Given the description of an element on the screen output the (x, y) to click on. 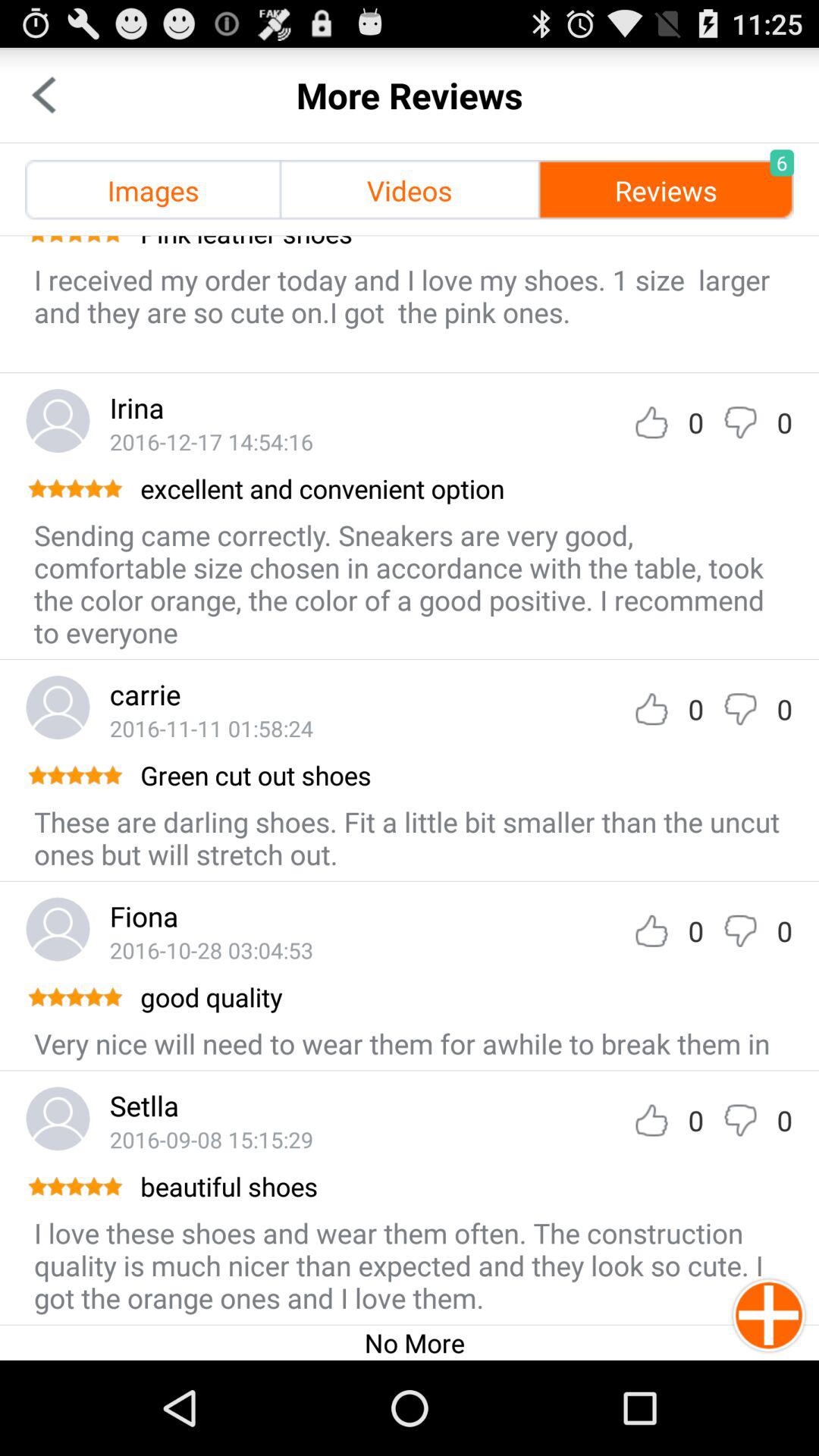
open the fiona item (143, 916)
